Given the description of an element on the screen output the (x, y) to click on. 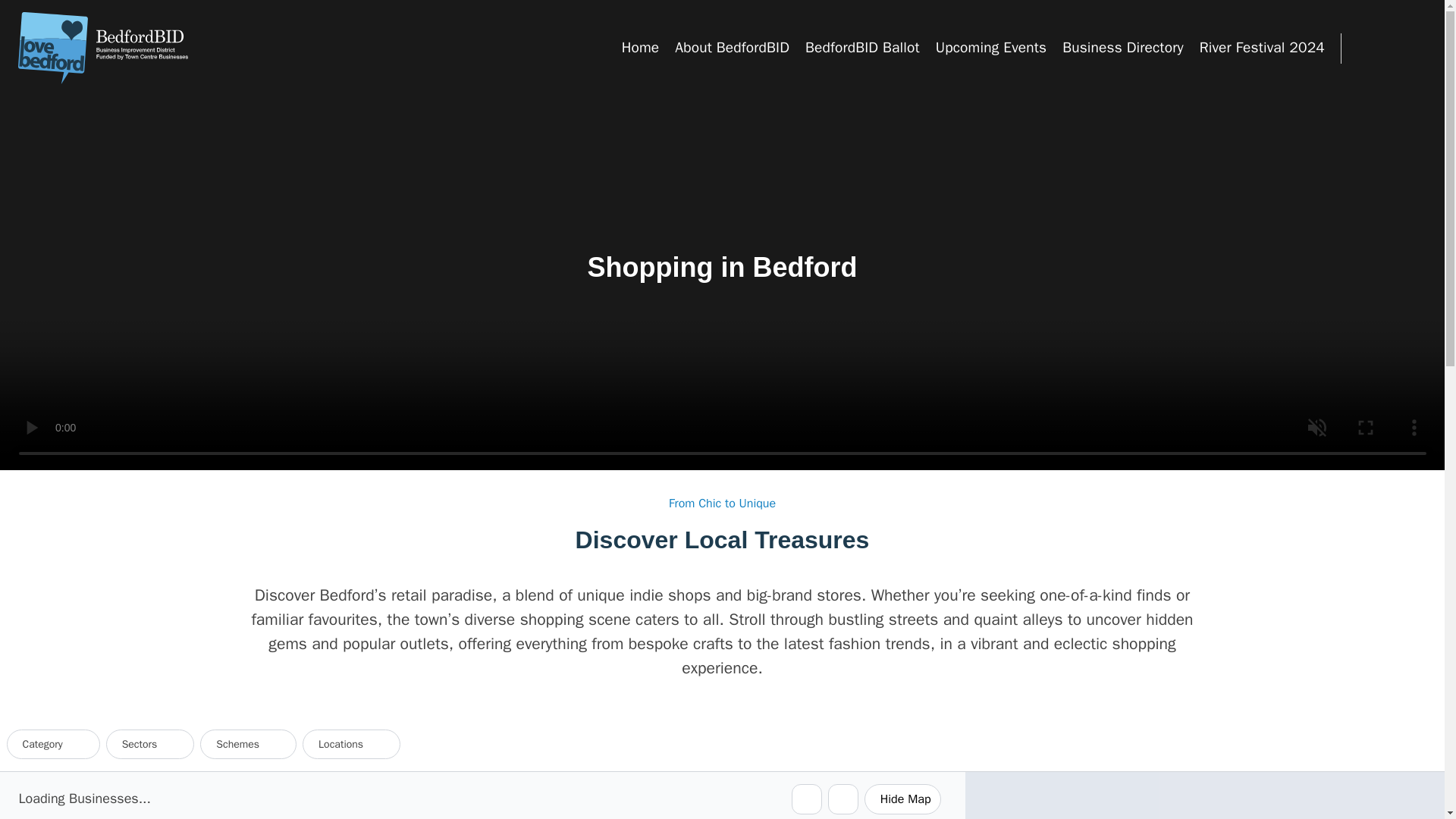
BedfordBID Ballot (862, 47)
Home (640, 47)
About BedfordBID (732, 47)
Upcoming Events (991, 47)
Business Directory (1122, 47)
River Festival 2024 (1261, 47)
